Given the description of an element on the screen output the (x, y) to click on. 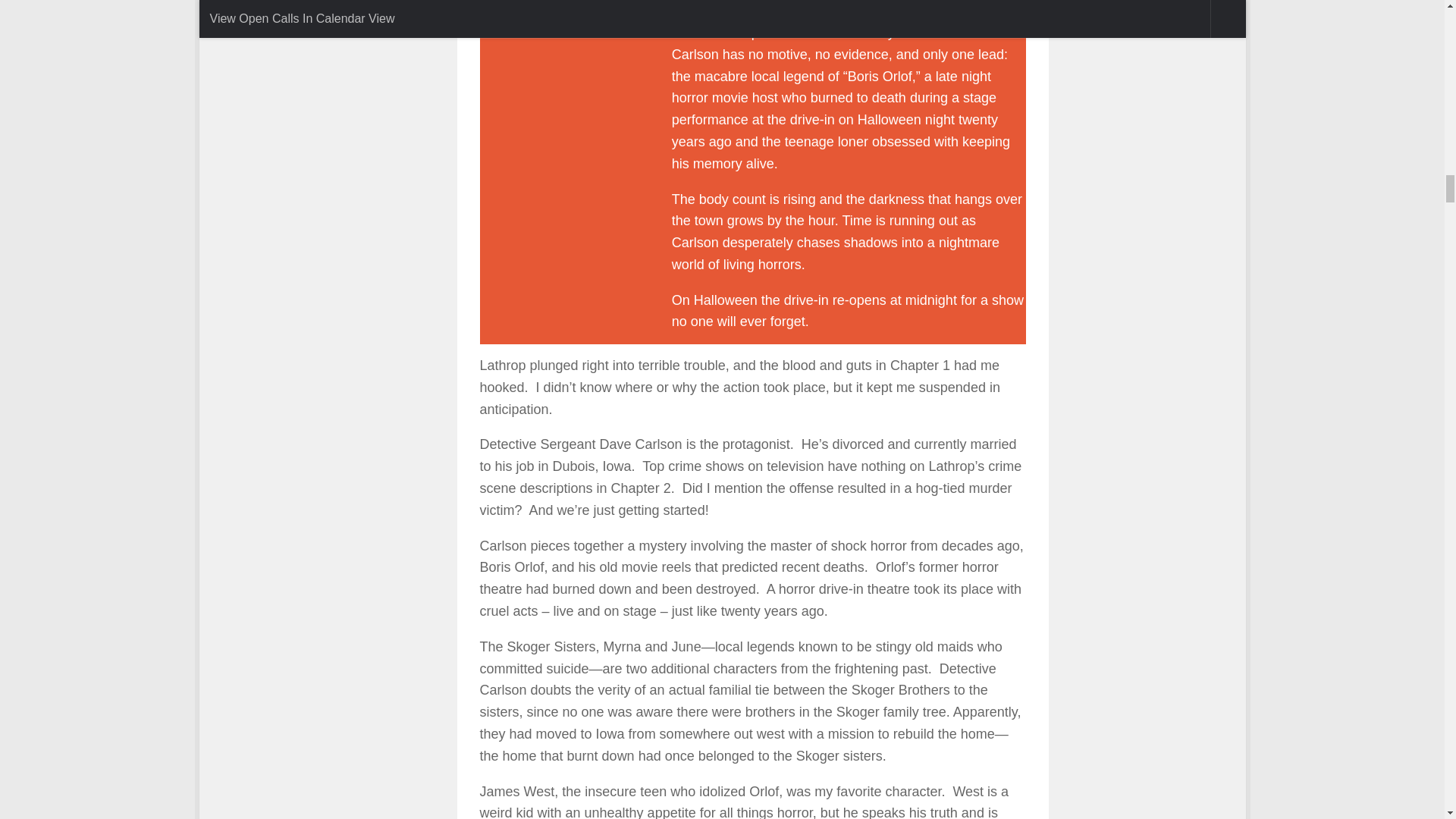
midnight (560, 53)
